Given the description of an element on the screen output the (x, y) to click on. 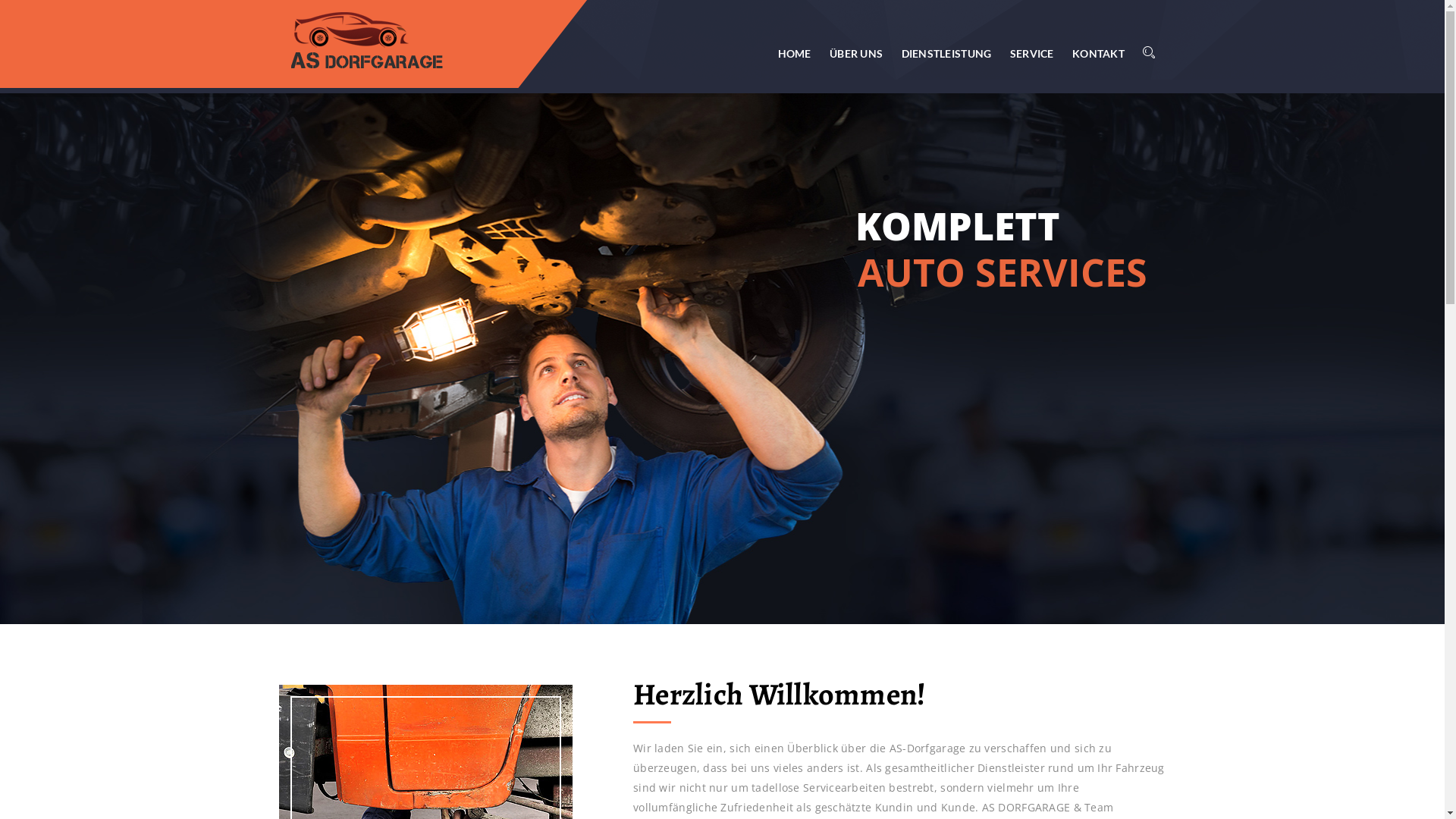
SERVICE Element type: text (1031, 53)
DIENSTLEISTUNG Element type: text (946, 53)
KONTAKT Element type: text (1094, 53)
HOME Element type: text (794, 53)
